Given the description of an element on the screen output the (x, y) to click on. 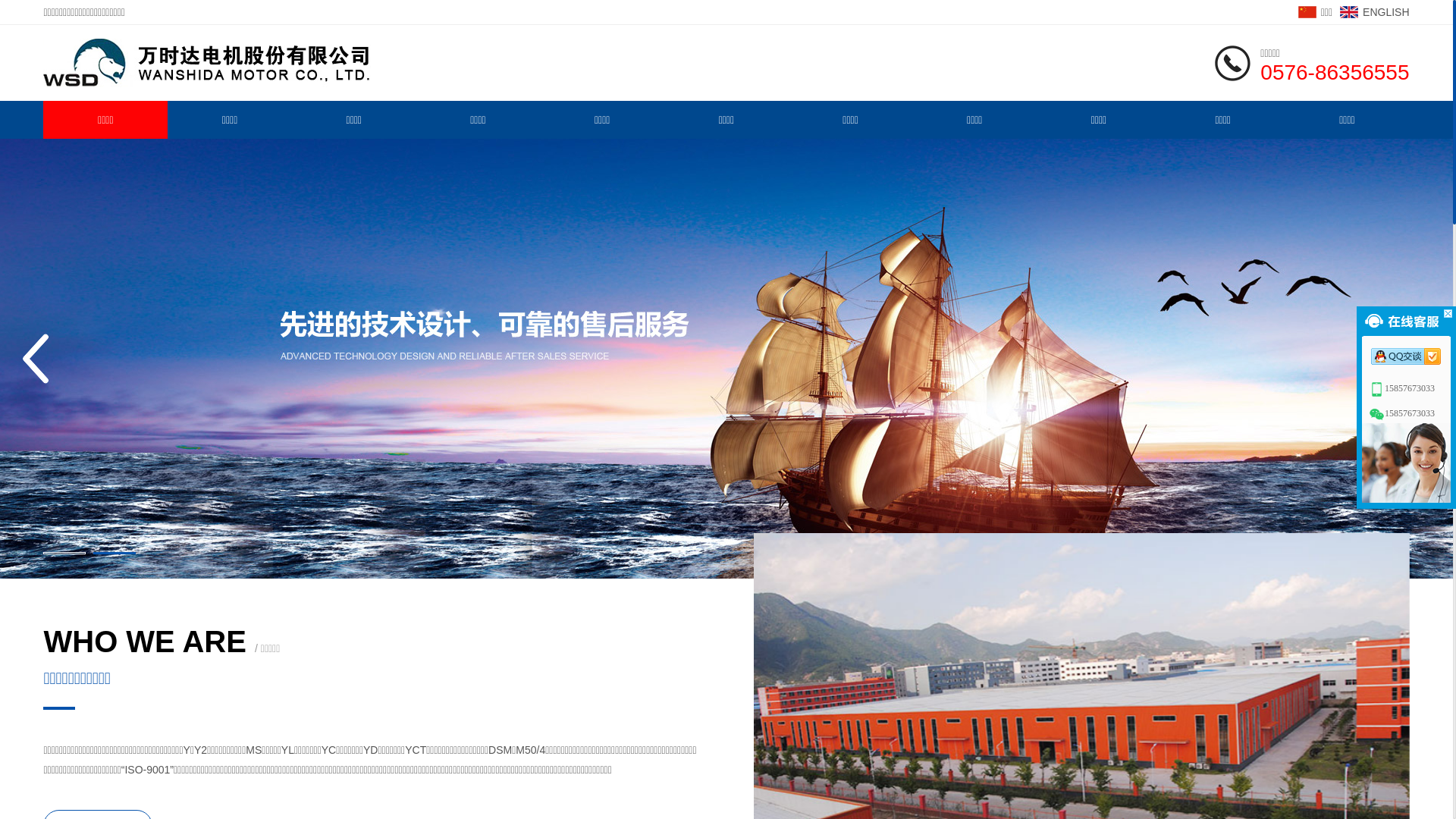
Previous Element type: text (35, 358)
Next Element type: text (1417, 358)
ENGLISH Element type: text (1373, 12)
1 Element type: text (64, 553)
2 Element type: text (114, 553)
